Given the description of an element on the screen output the (x, y) to click on. 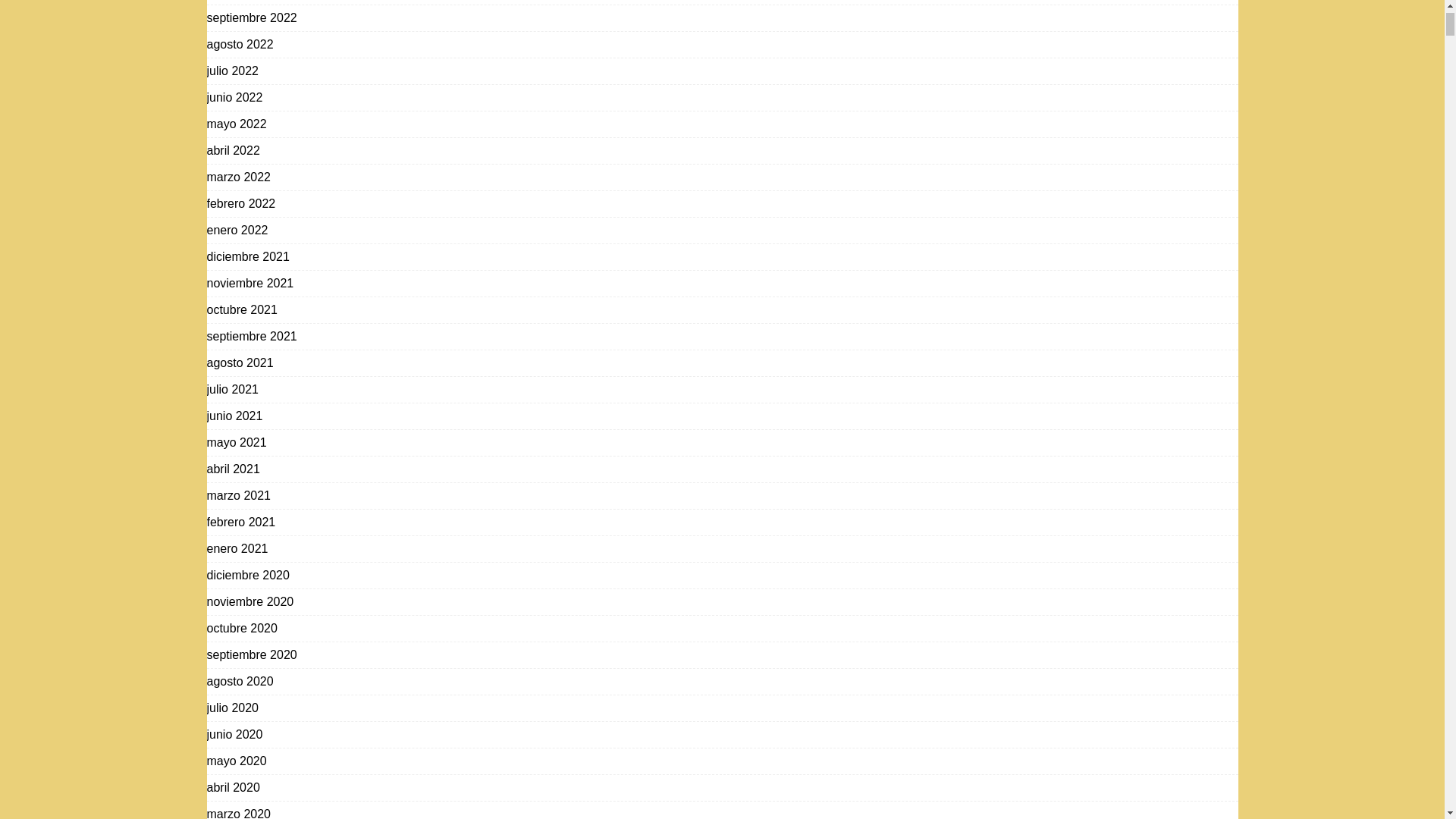
julio 2022 (232, 70)
junio 2022 (234, 97)
septiembre 2022 (251, 17)
agosto 2022 (239, 43)
